Given the description of an element on the screen output the (x, y) to click on. 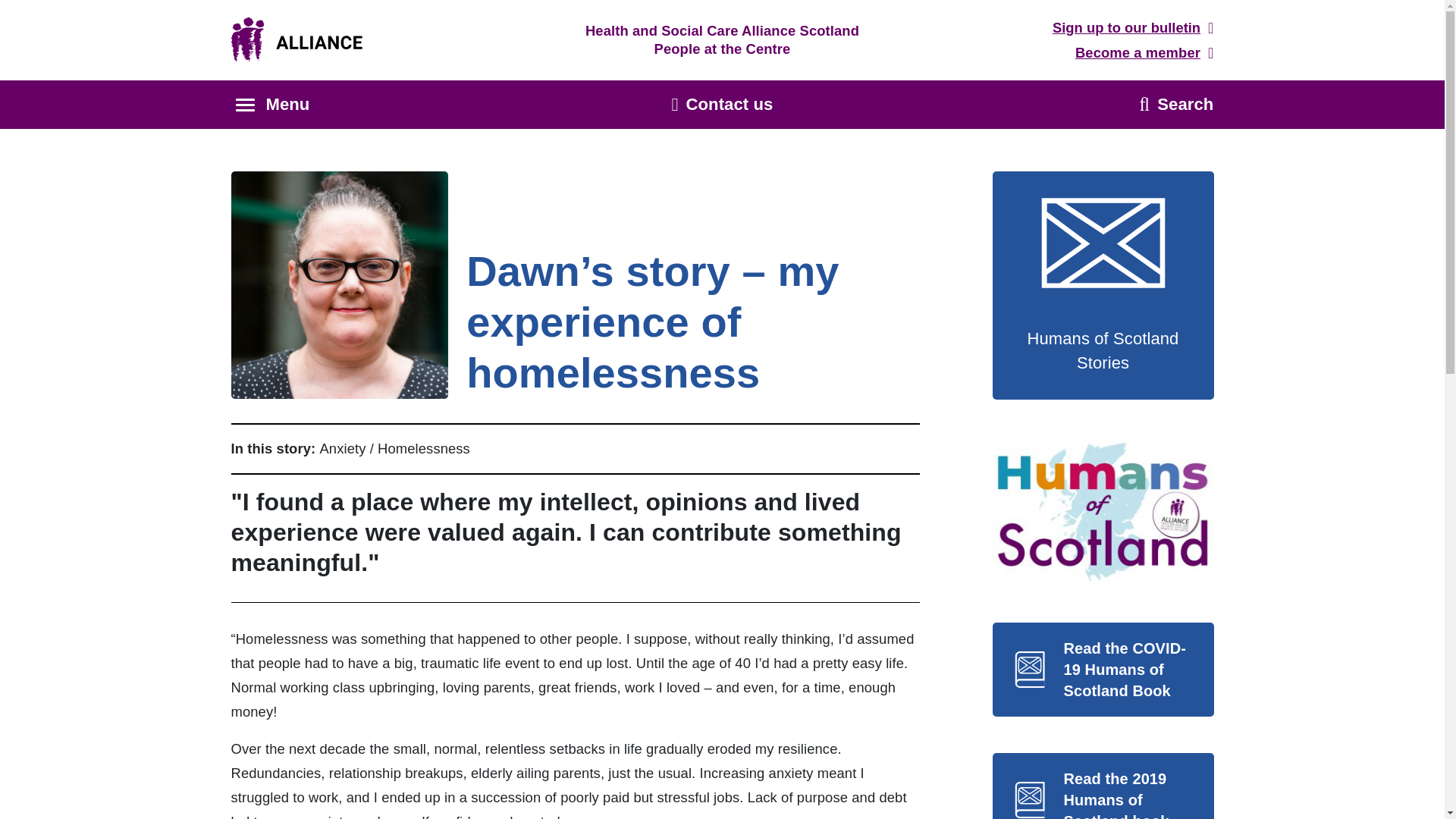
Become a member (1144, 52)
Search (1177, 104)
Contact us (722, 104)
Menu (272, 104)
Sign up to our bulletin (1133, 27)
